Given the description of an element on the screen output the (x, y) to click on. 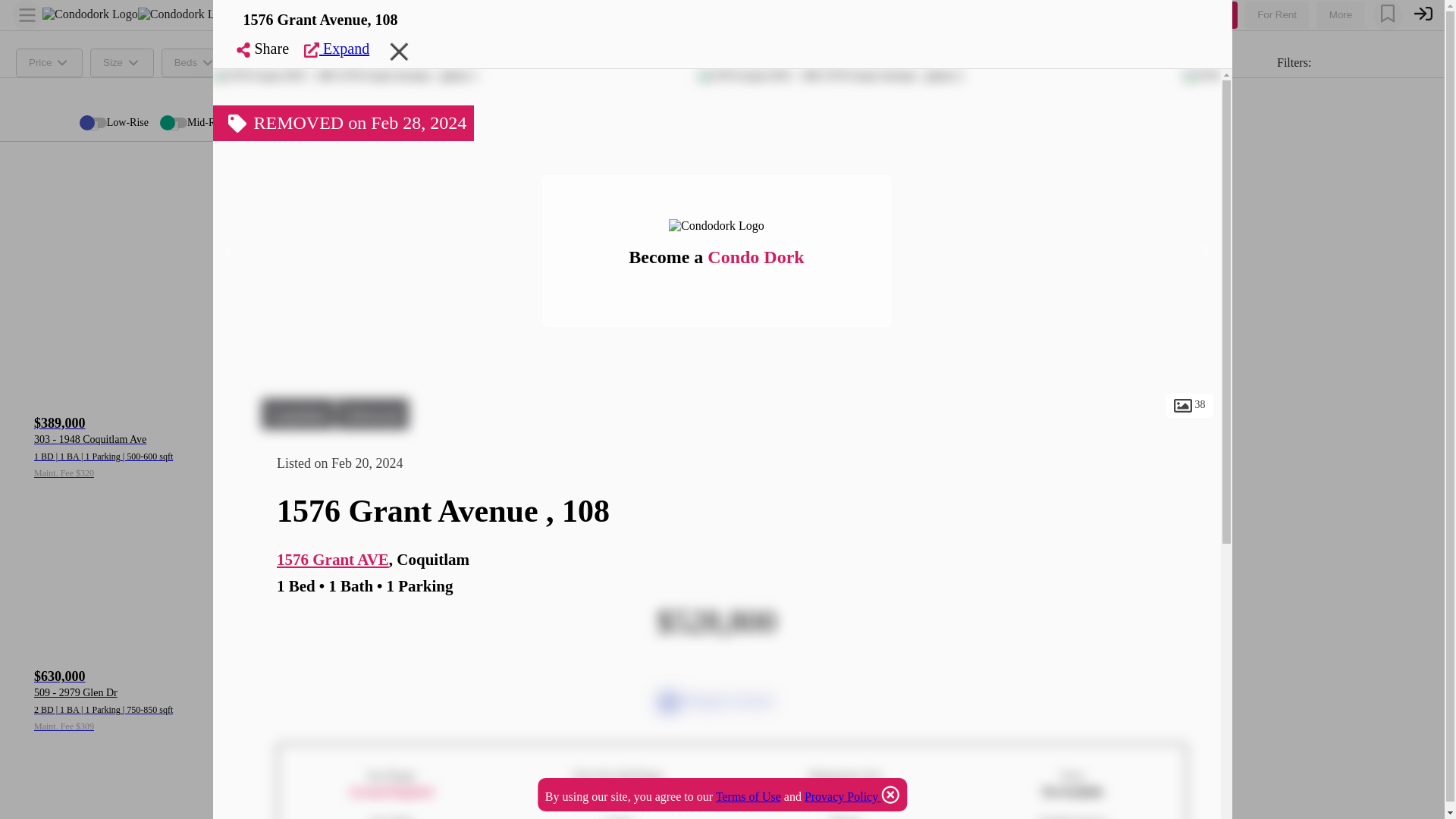
311 Listings (267, 171)
Baths (270, 62)
Price (49, 62)
For Rent (1276, 14)
on (93, 125)
on (173, 125)
More (344, 62)
Get Alerts (427, 62)
1576 Grant AVE - 108 1576 Grant Avenue - photo 1 (344, 75)
Size (122, 62)
